Given the description of an element on the screen output the (x, y) to click on. 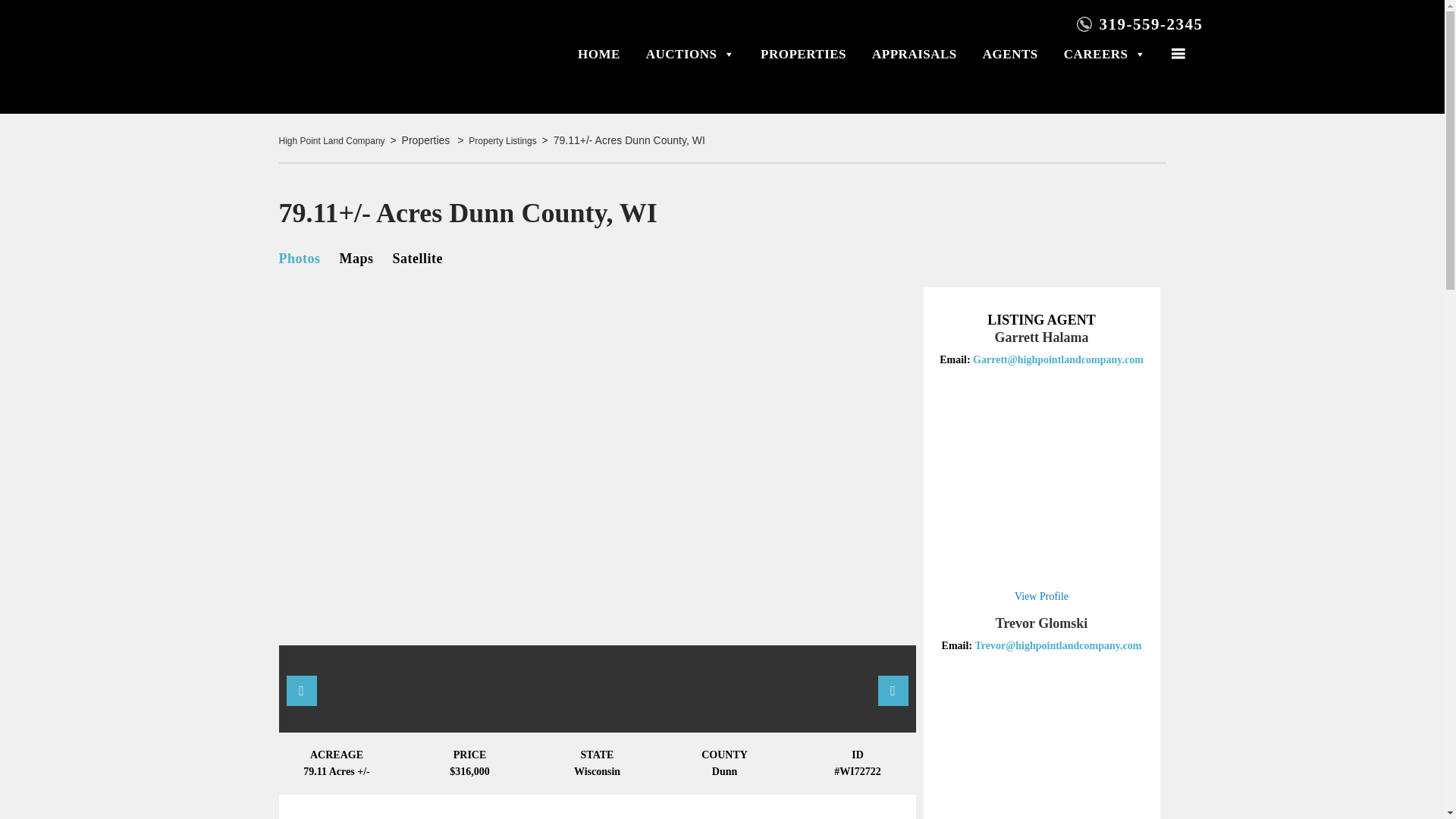
AUCTIONS (690, 54)
Go to Properties. (426, 140)
AGENTS (1010, 54)
HOME (598, 54)
Properties (426, 140)
PROPERTIES (802, 54)
Previous (301, 690)
Go to High Point Land Company. (332, 140)
Home (346, 55)
Property Listings (501, 140)
View Profile (1041, 595)
Go to the Property Listings Property Type archives. (501, 140)
APPRAISALS (913, 54)
Next (892, 690)
CAREERS (1105, 54)
